Given the description of an element on the screen output the (x, y) to click on. 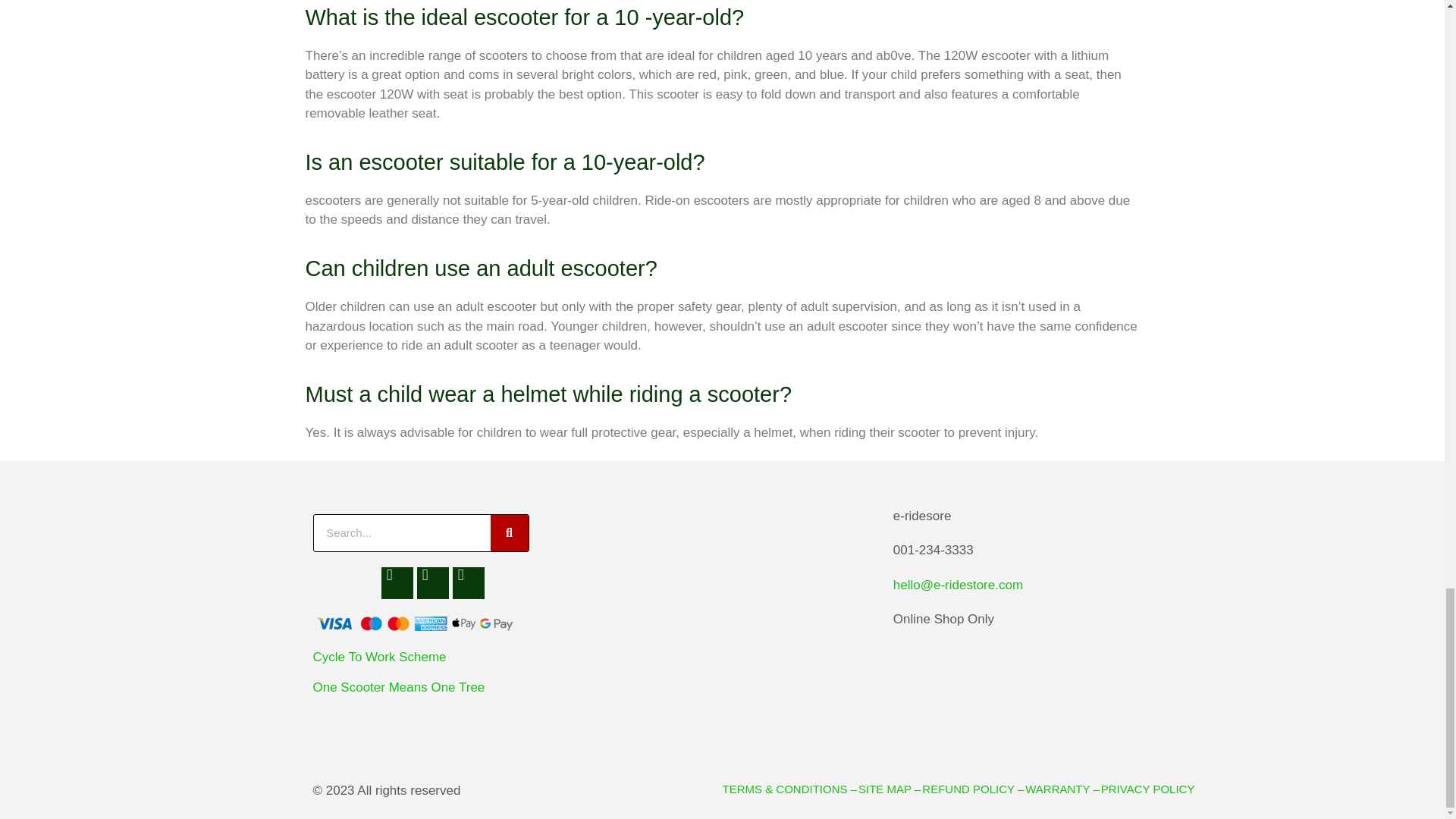
London Eye, London, United Kingdom (721, 628)
Search (508, 533)
Search (402, 533)
